Given the description of an element on the screen output the (x, y) to click on. 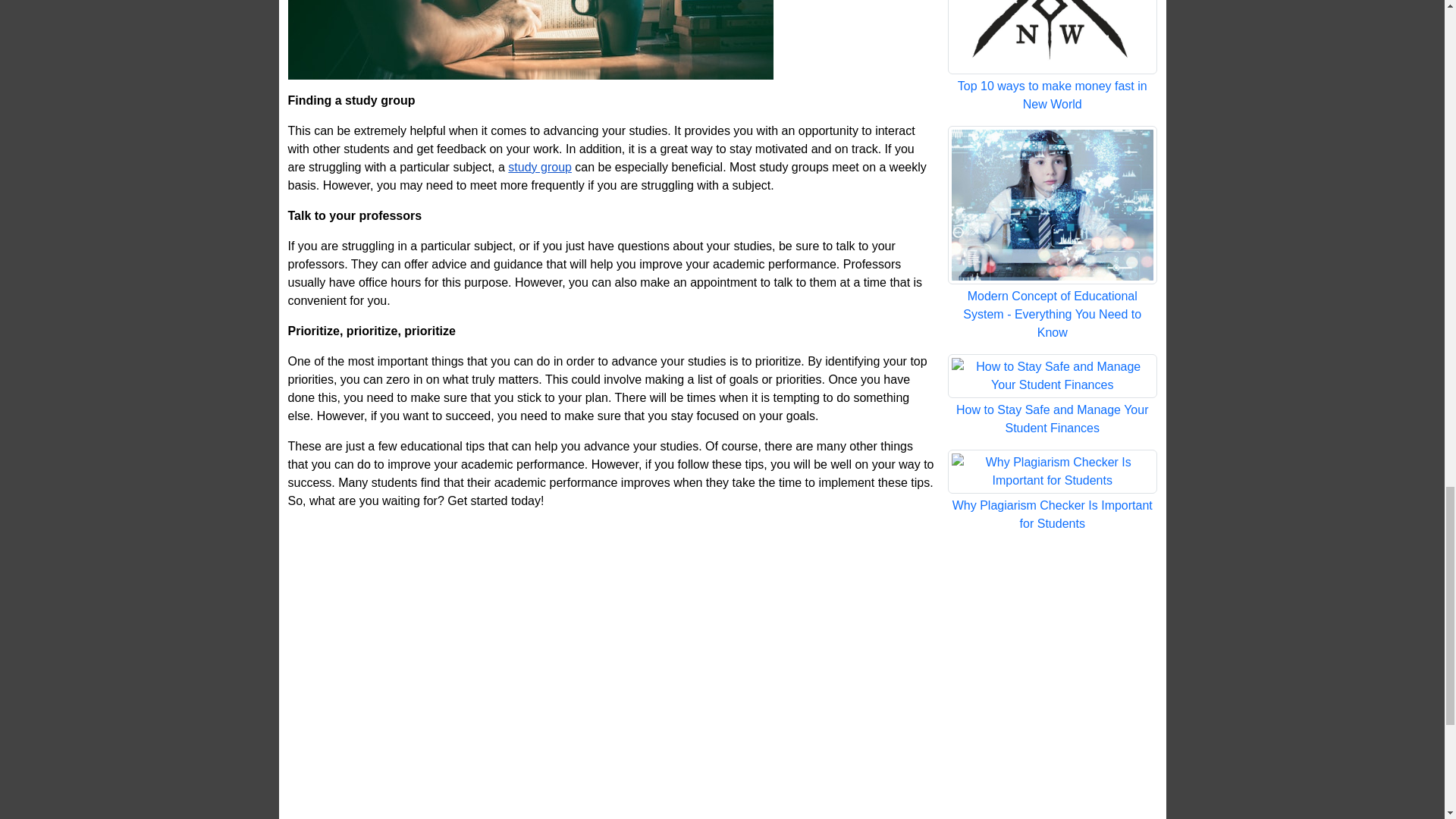
study group (540, 166)
